Given the description of an element on the screen output the (x, y) to click on. 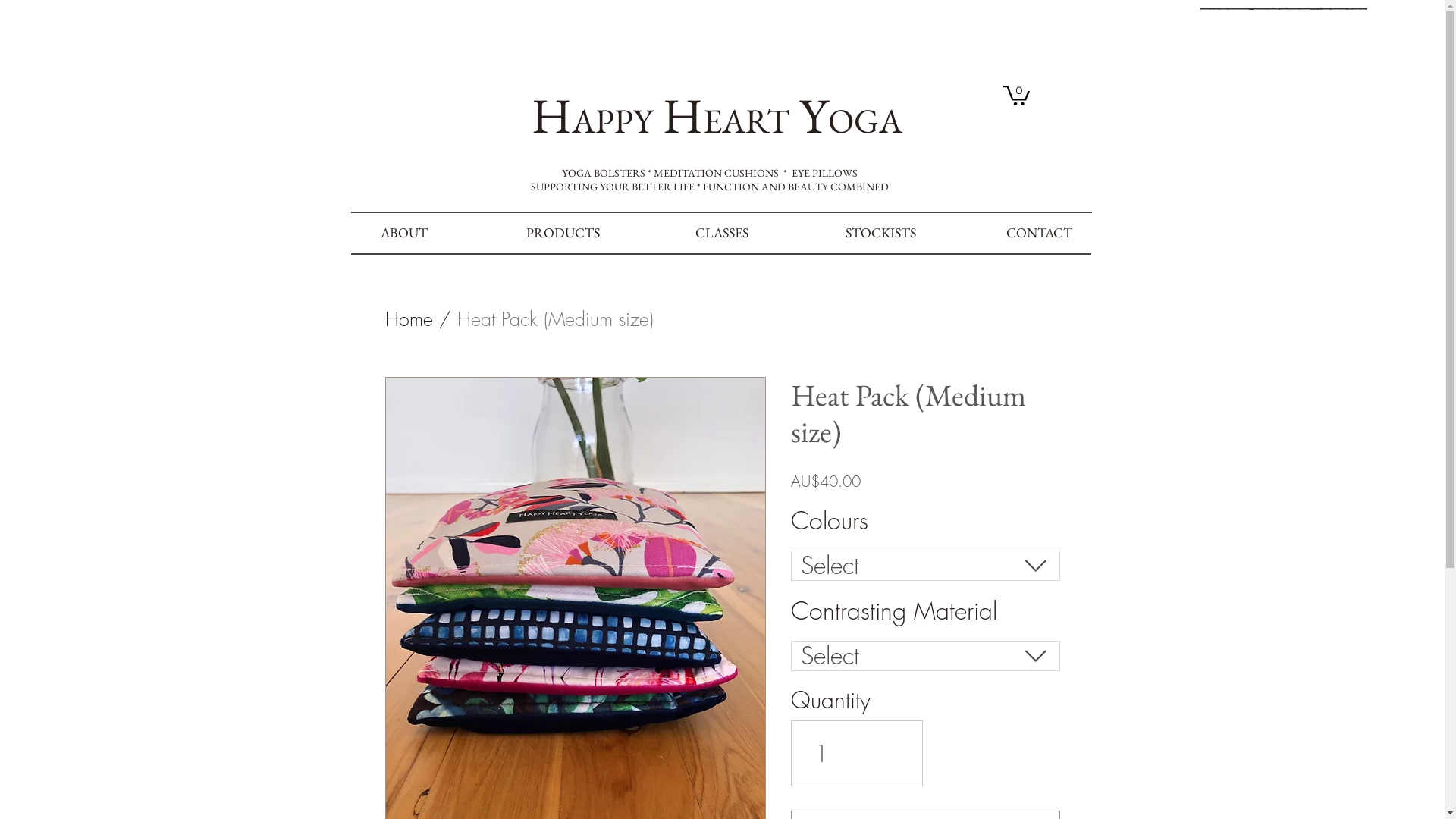
ABOUT Element type: text (403, 232)
Select Element type: text (924, 565)
0 Element type: text (1015, 94)
Home Element type: text (409, 319)
Heat Pack (Medium size) Element type: text (554, 319)
PRODUCTS Element type: text (563, 232)
STOCKISTS Element type: text (879, 232)
Select Element type: text (924, 655)
CONTACT Element type: text (1039, 232)
CLASSES Element type: text (722, 232)
